Given the description of an element on the screen output the (x, y) to click on. 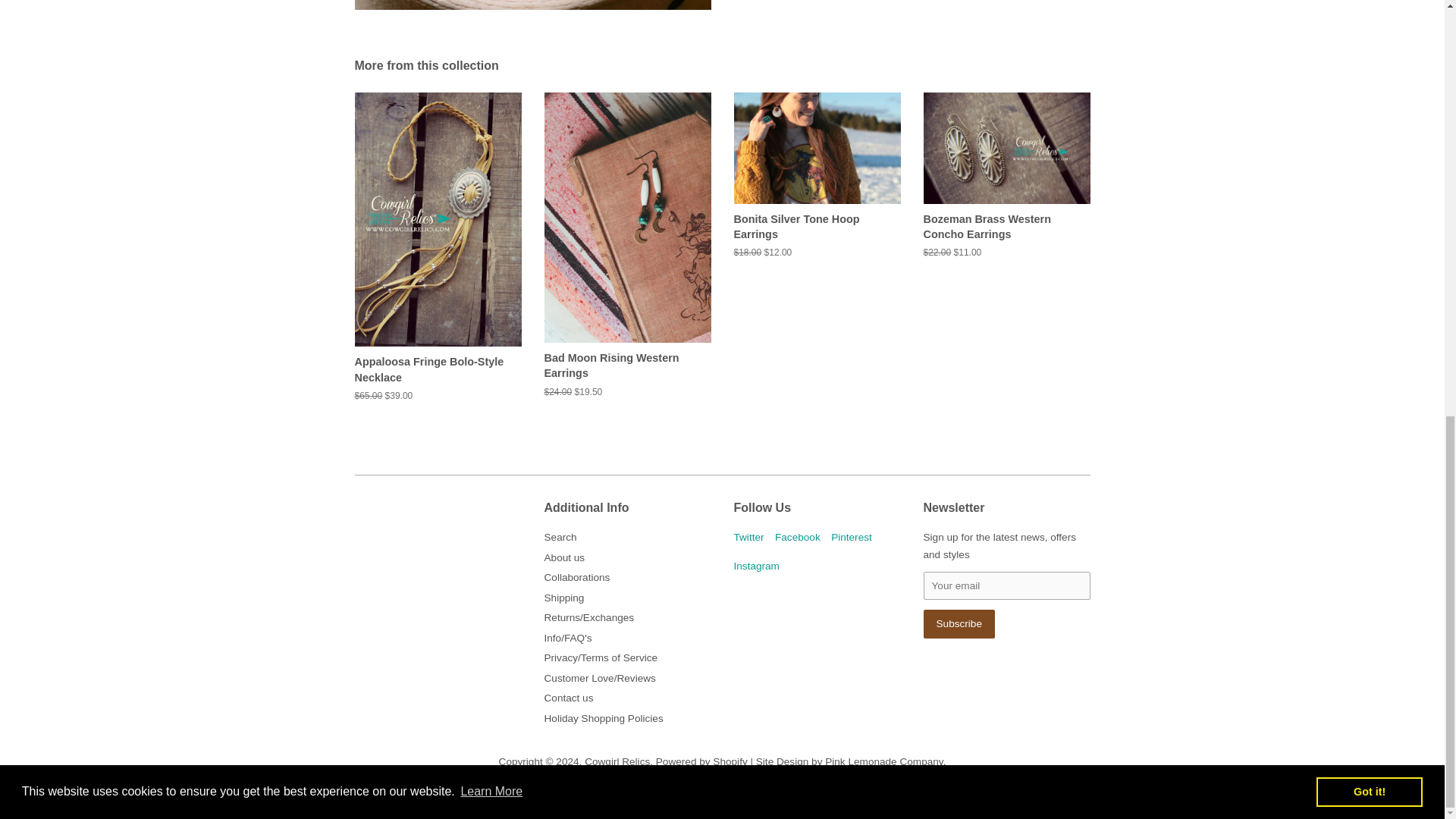
Cowgirl Relics on Instagram (755, 565)
Cowgirl Relics on Twitter (748, 536)
Subscribe (958, 623)
Cowgirl Relics on Pinterest (851, 536)
Cowgirl Relics on Facebook (797, 536)
